Given the description of an element on the screen output the (x, y) to click on. 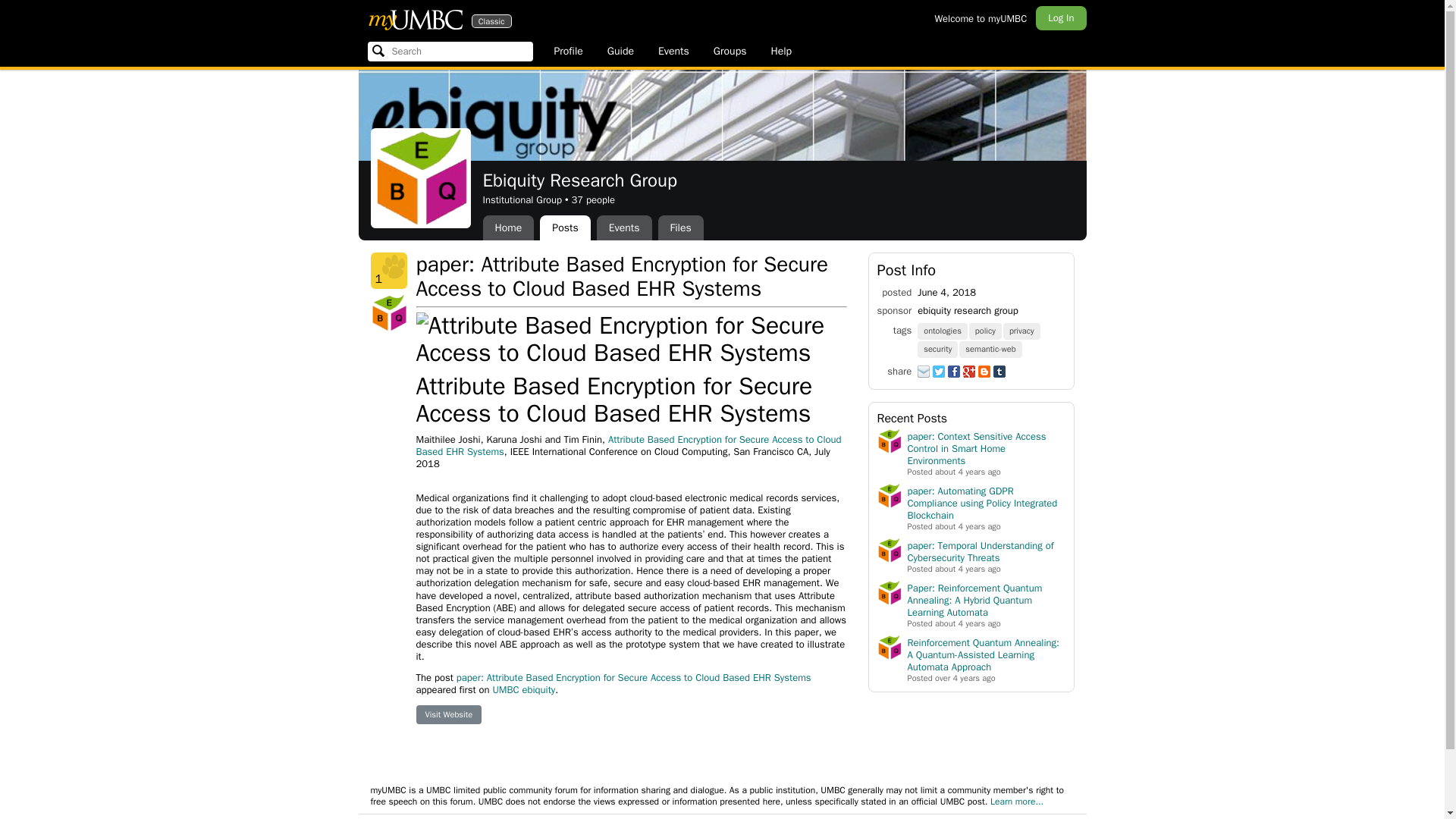
UMBC ebiquity (414, 19)
Groups (523, 689)
Profile (729, 51)
policy (567, 51)
ontologies (986, 329)
Files (943, 329)
37 people (680, 227)
security (592, 199)
Posts (938, 348)
Help (564, 227)
myUMBC (780, 51)
1 (414, 19)
privacy (387, 270)
